Given the description of an element on the screen output the (x, y) to click on. 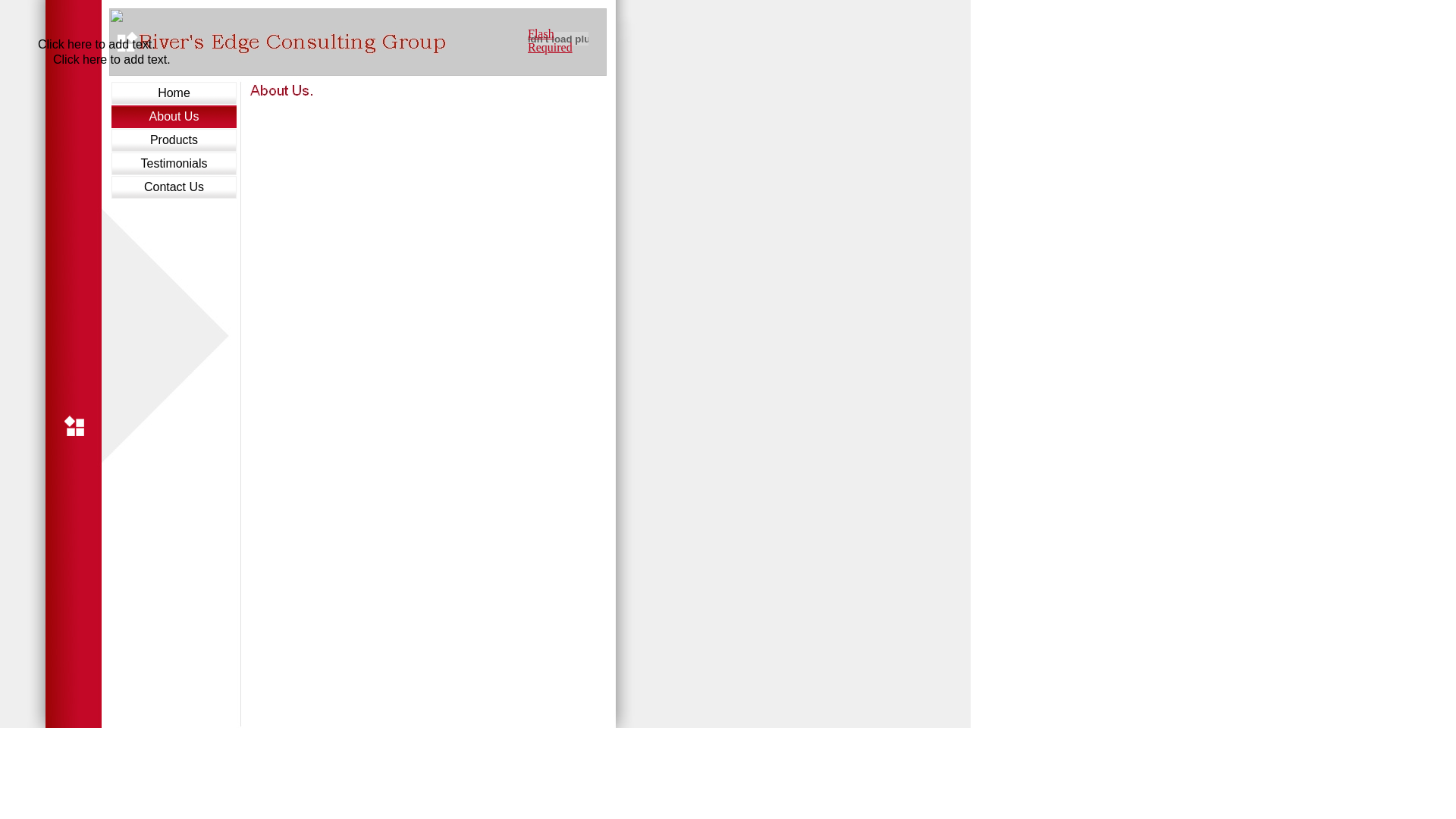
Home Element type: text (173, 92)
About Us Element type: text (173, 116)
Flash Required Element type: text (549, 40)
Testimonials Element type: text (173, 163)
Contact Us Element type: text (173, 186)
Products Element type: text (173, 139)
